Given the description of an element on the screen output the (x, y) to click on. 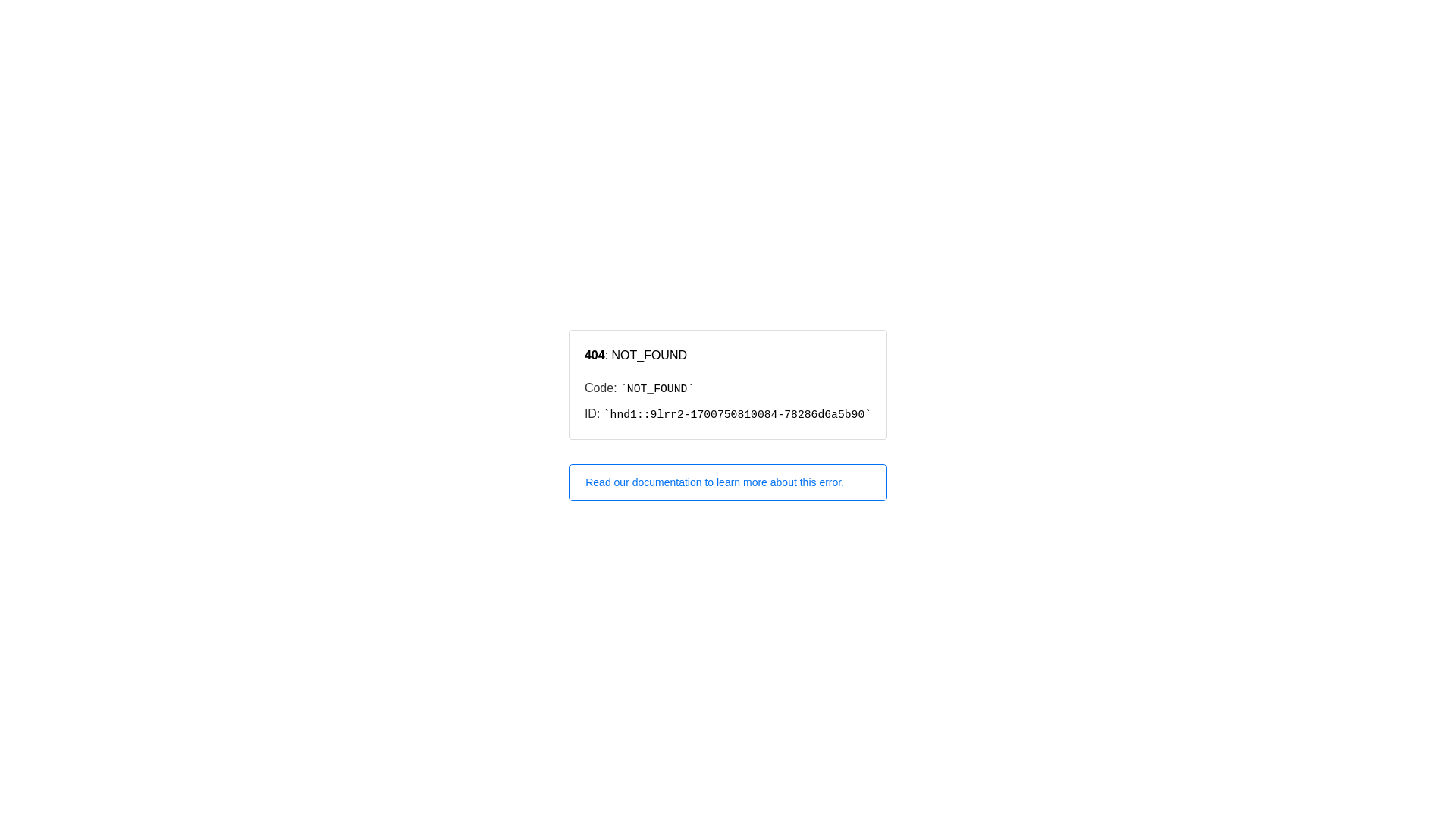
Read our documentation to learn more about this error. Element type: text (727, 482)
